Given the description of an element on the screen output the (x, y) to click on. 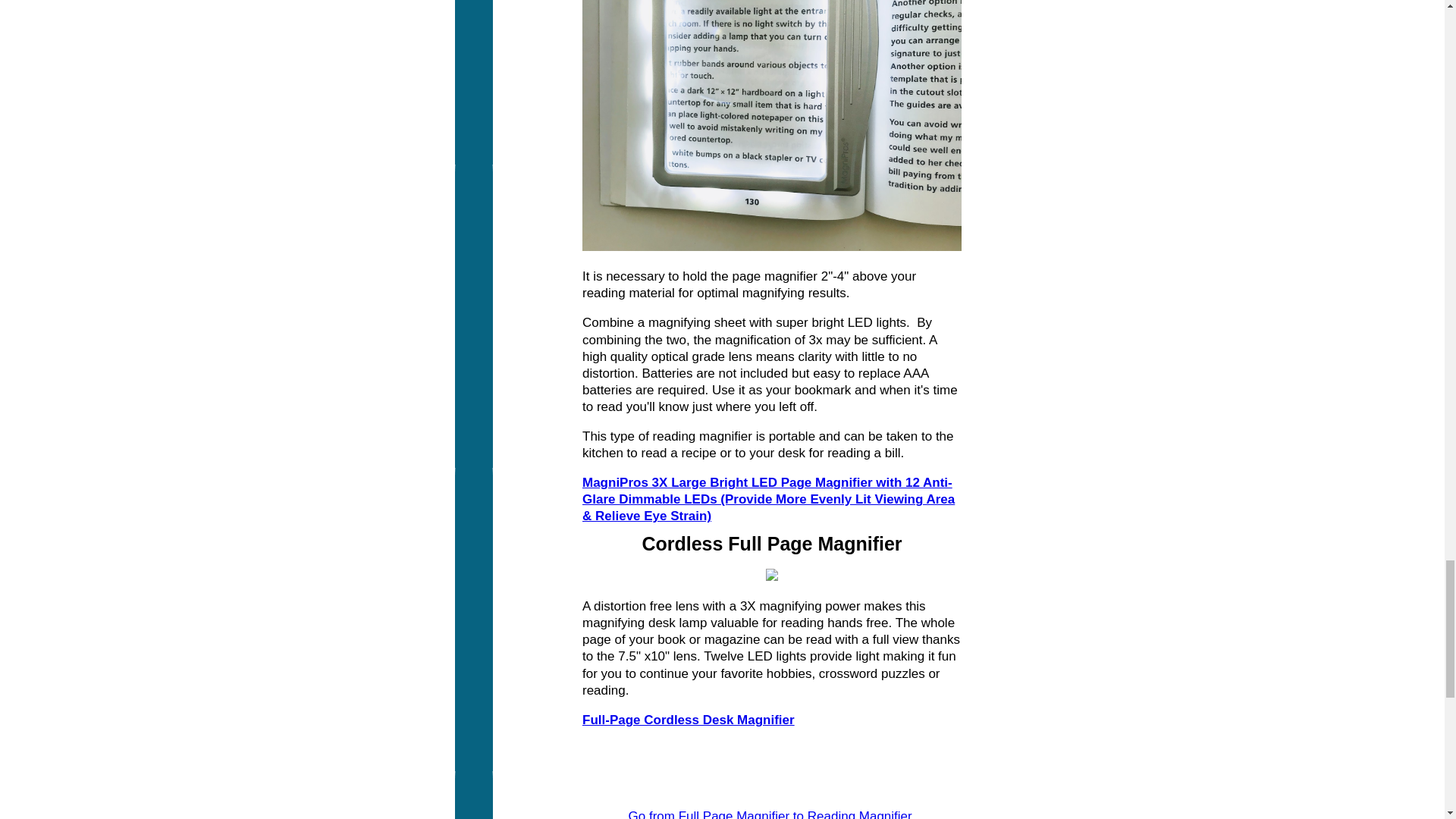
Go from Full Page Magnifier to Reading Magnifier  (771, 814)
book light magnifier (771, 125)
Full-Page Cordless Desk Magnifier (688, 719)
